Given the description of an element on the screen output the (x, y) to click on. 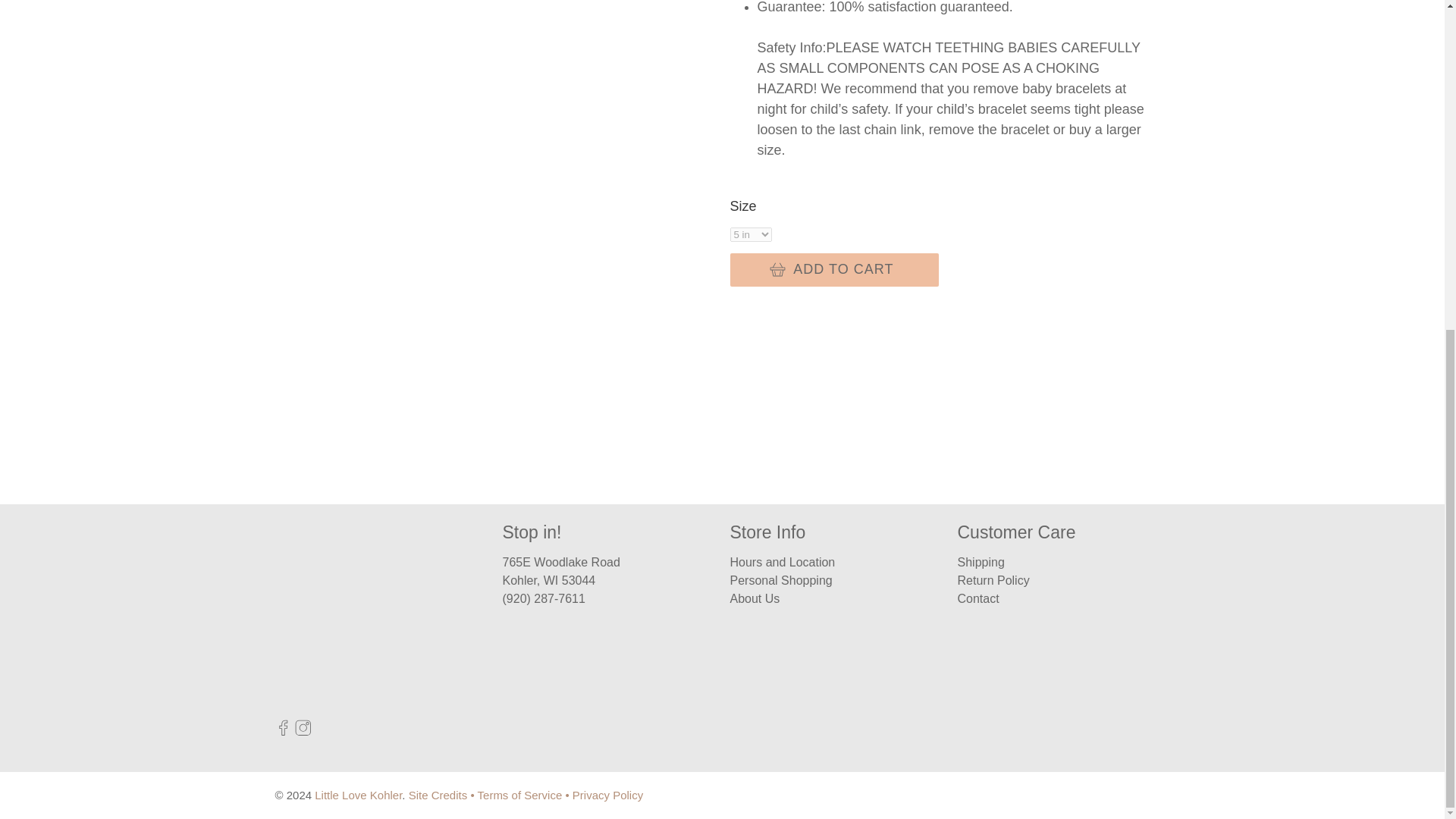
Little Love Kohler on Facebook (283, 731)
Little Love Kohler on Instagram (303, 731)
Little Love Kohler (359, 611)
